Given the description of an element on the screen output the (x, y) to click on. 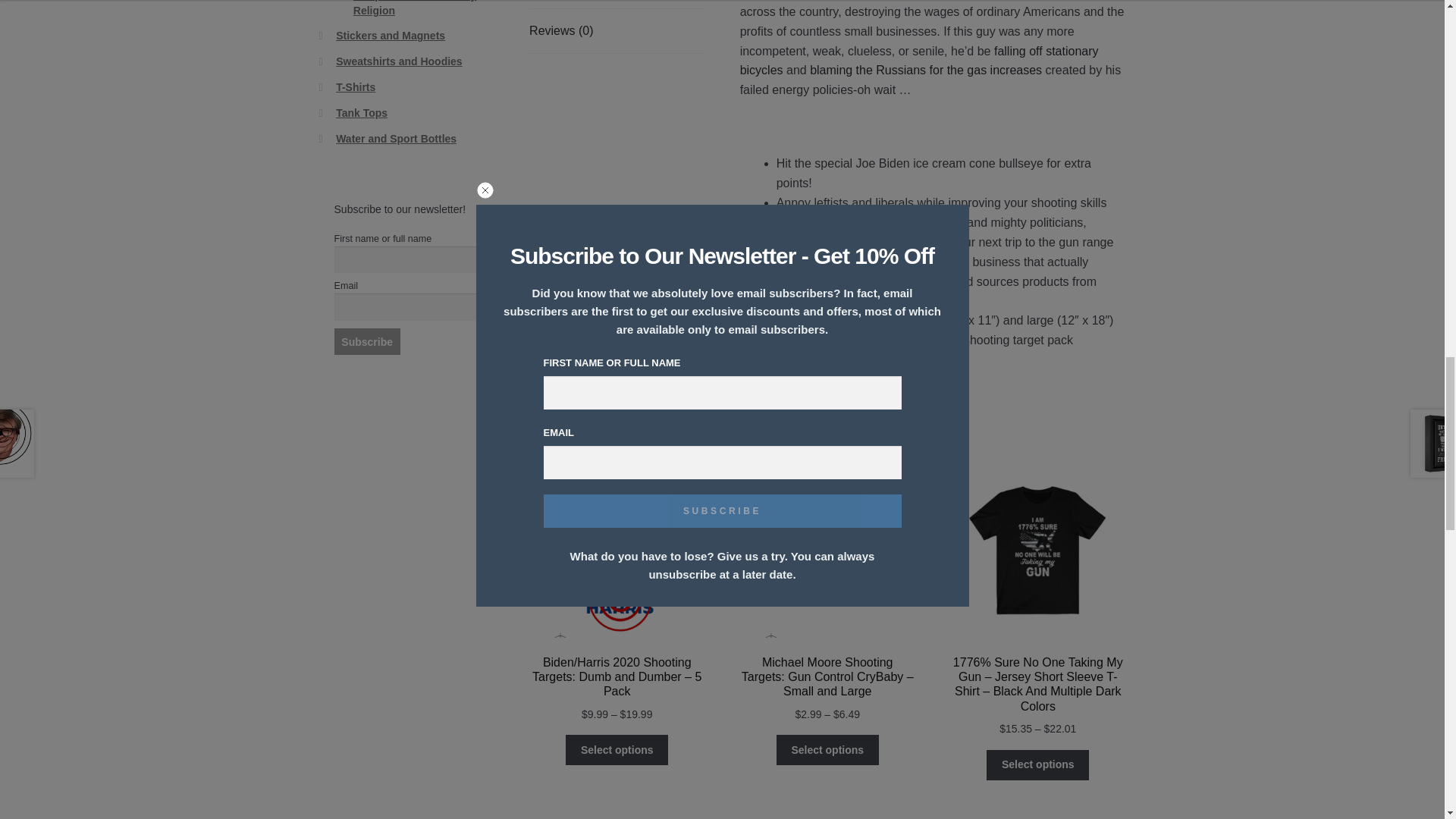
Subscribe (367, 341)
